Given the description of an element on the screen output the (x, y) to click on. 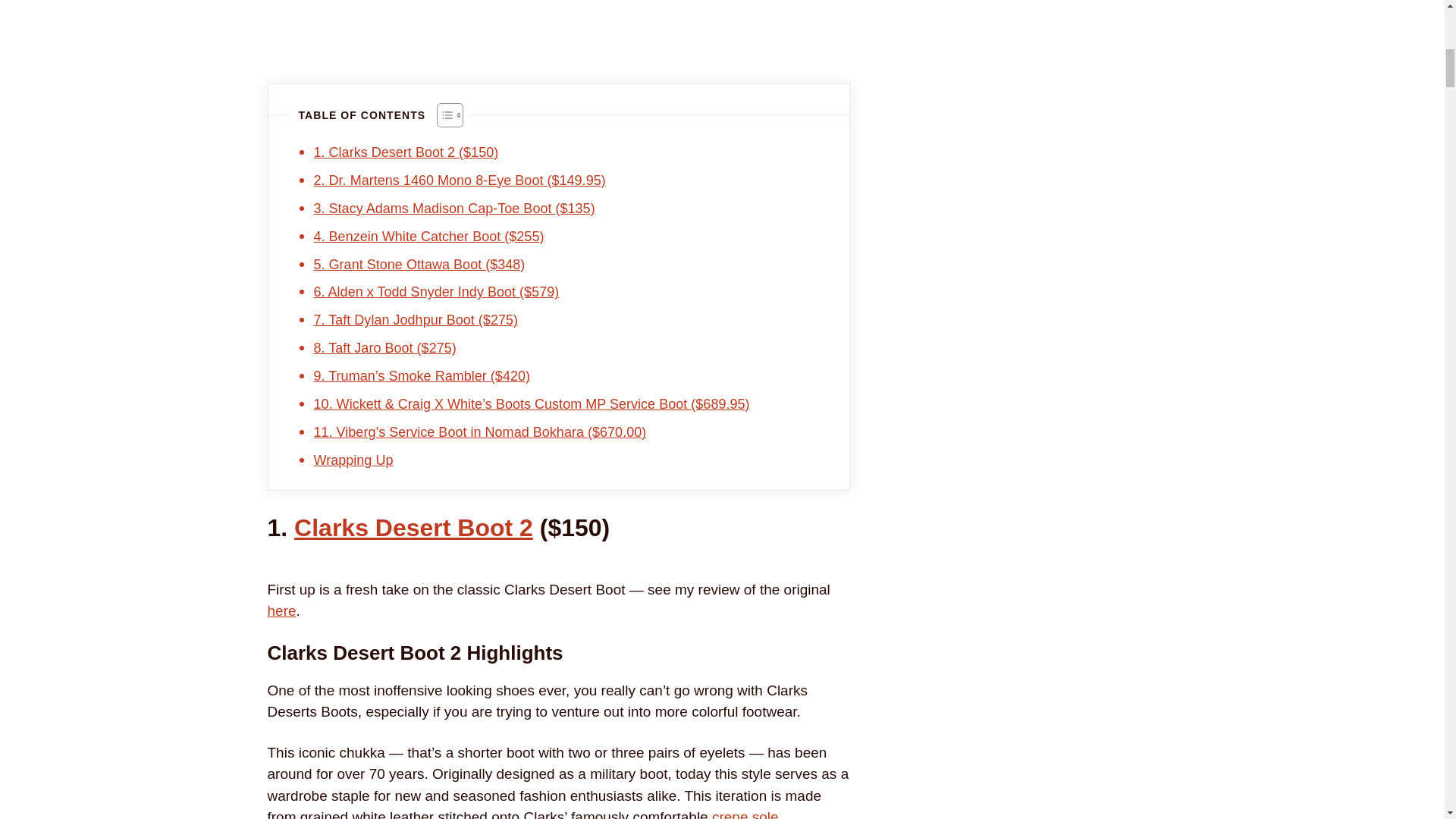
Wrapping Up (353, 460)
